Given the description of an element on the screen output the (x, y) to click on. 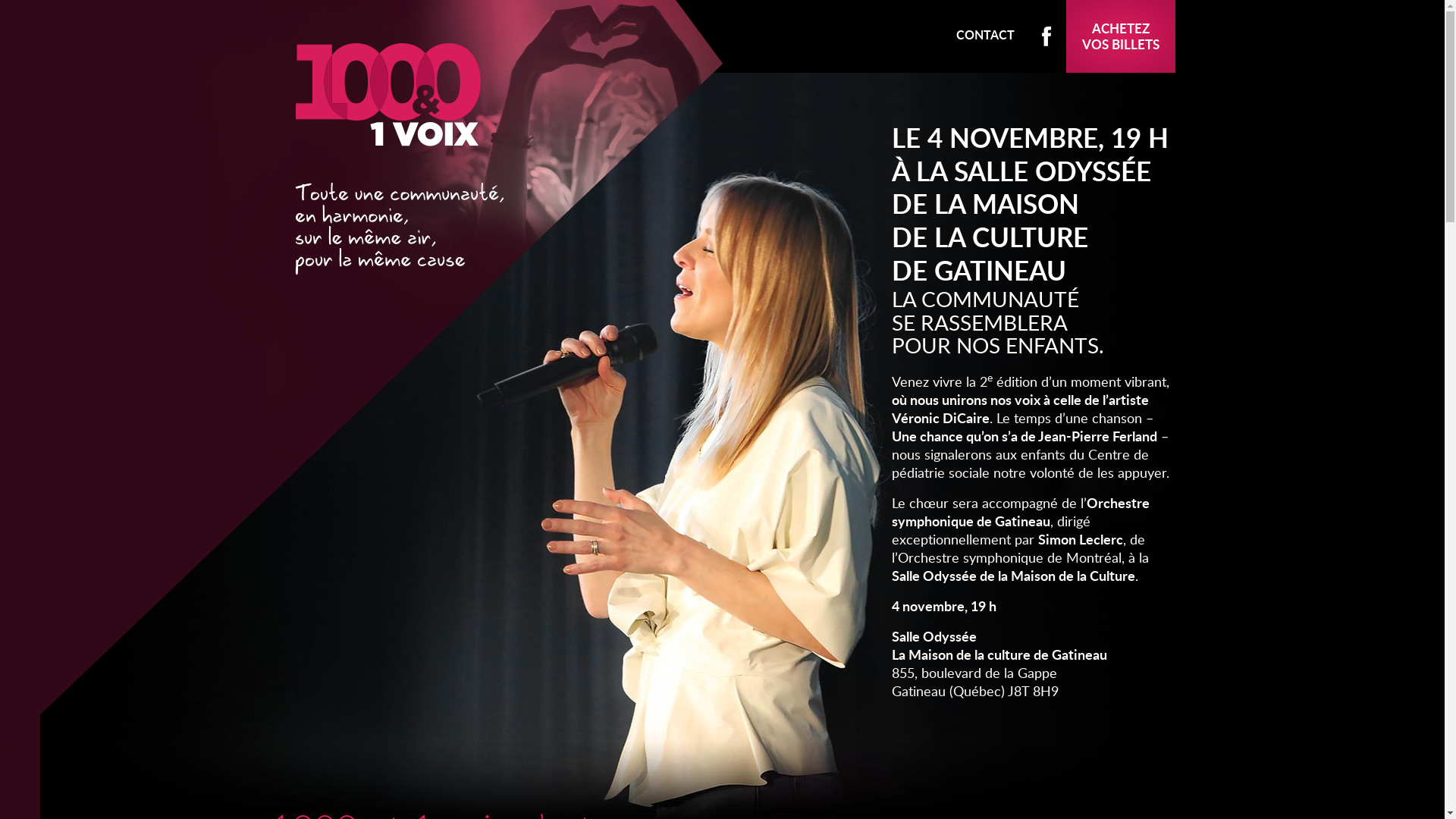
CONTACT Element type: text (984, 34)
ACHETEZ
VOS BILLETS Element type: text (1120, 36)
